Given the description of an element on the screen output the (x, y) to click on. 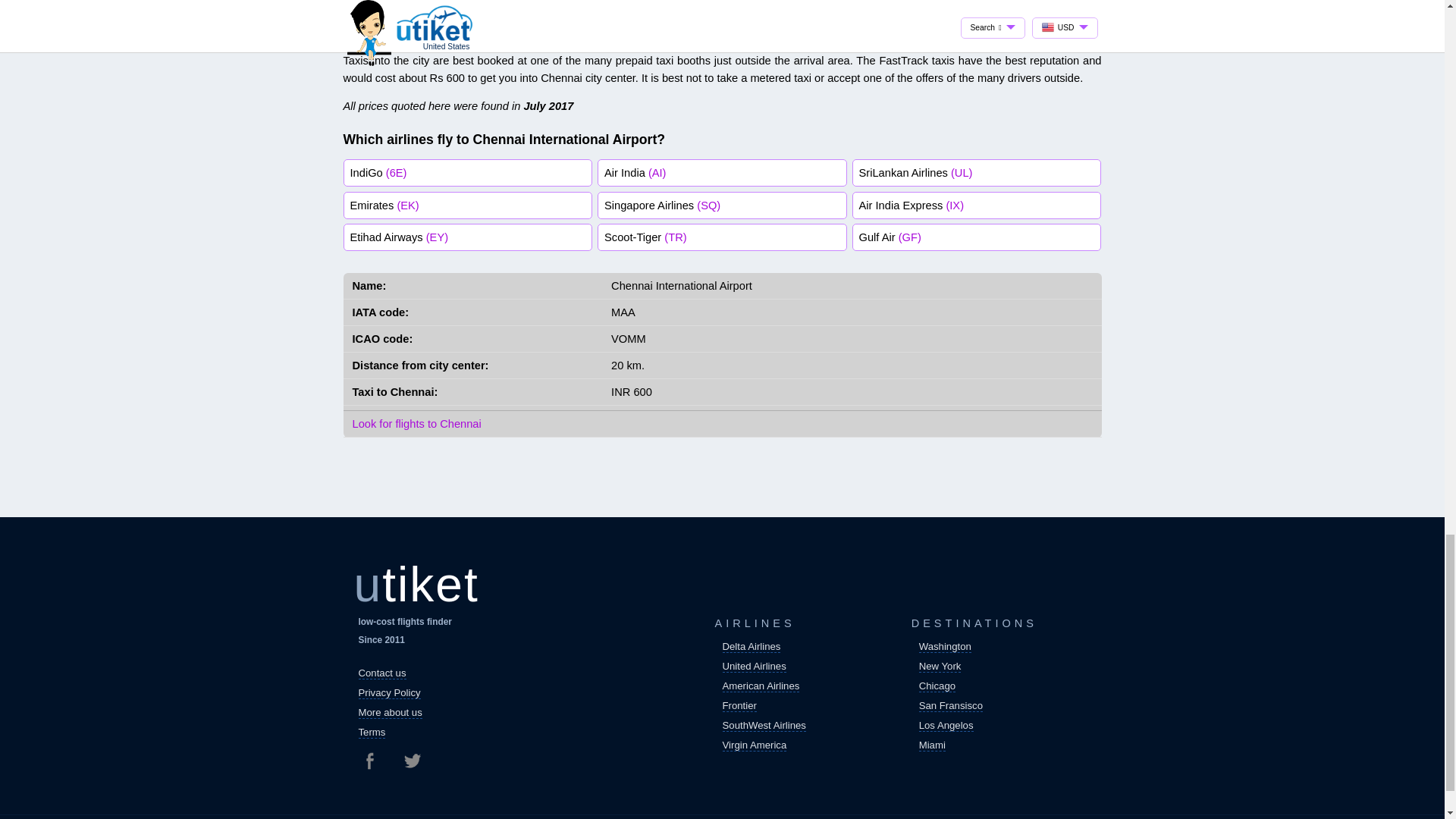
Utiket on Twitter (411, 760)
Utiket on Facebook (374, 760)
